Given the description of an element on the screen output the (x, y) to click on. 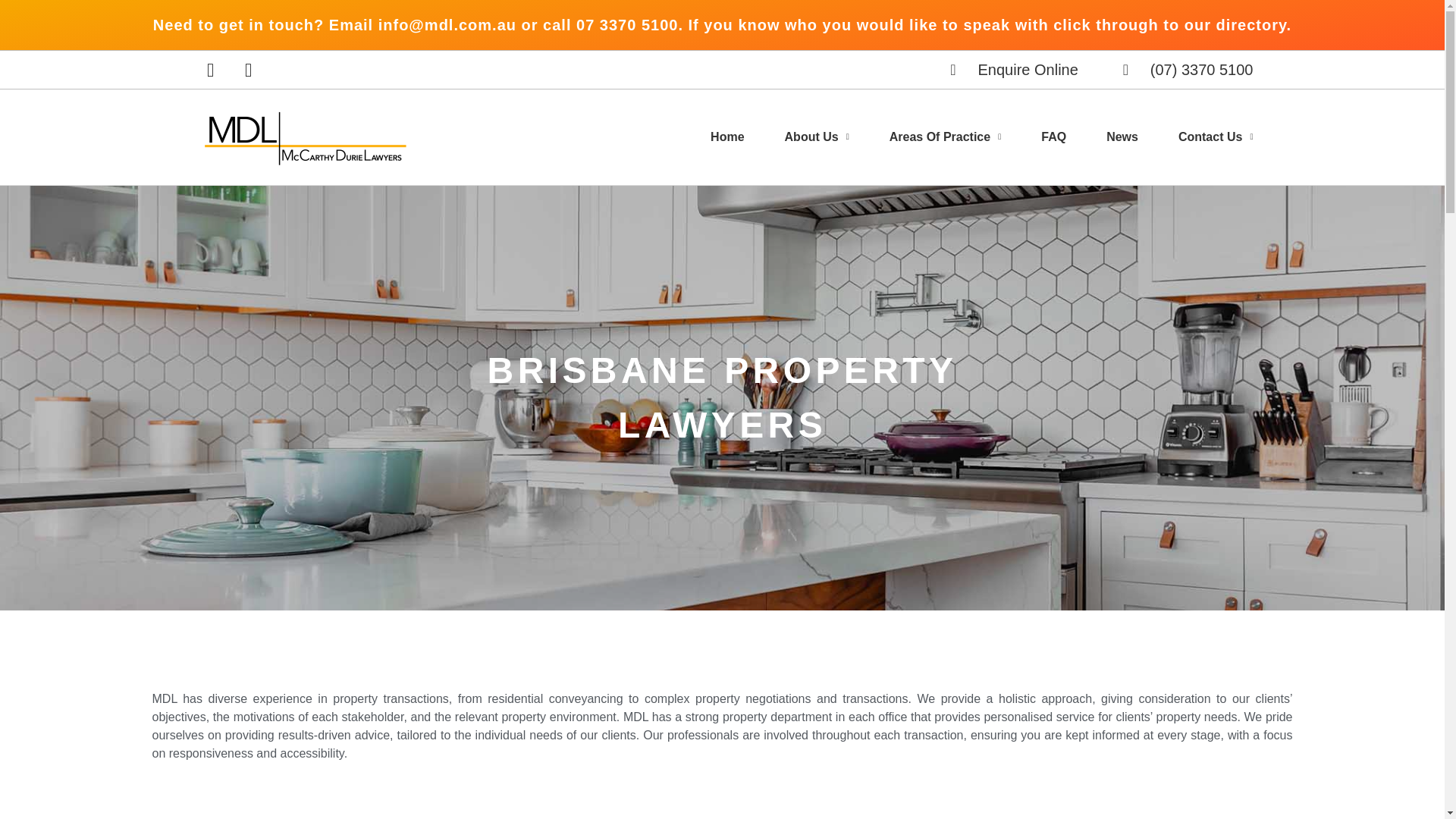
About Us (816, 137)
Areas Of Practice (945, 137)
Enquire Online (1010, 69)
